Given the description of an element on the screen output the (x, y) to click on. 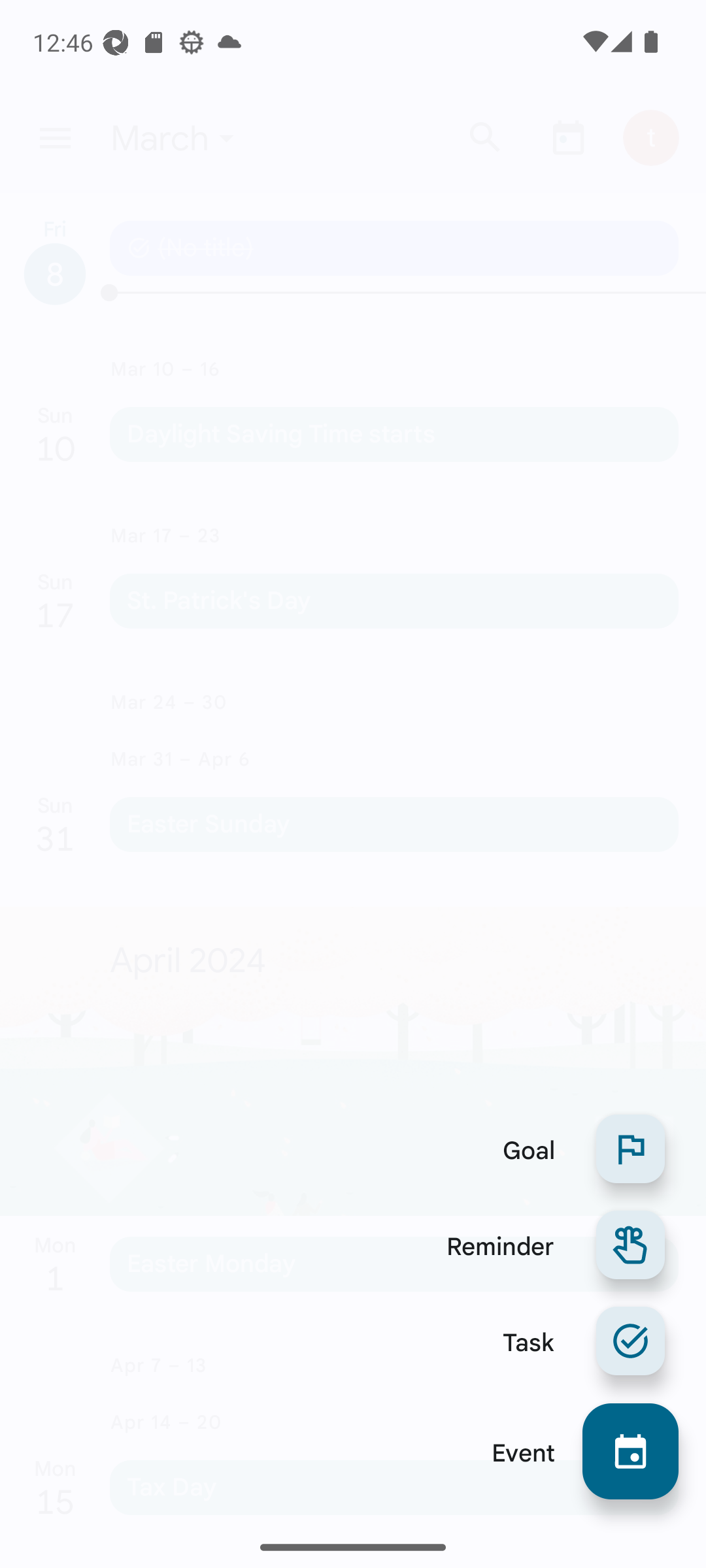
Goal Goal button (576, 1149)
Reminder Reminder button (548, 1244)
Task Task button (576, 1340)
Event Event button (570, 1451)
Create new event and more (630, 1451)
